Given the description of an element on the screen output the (x, y) to click on. 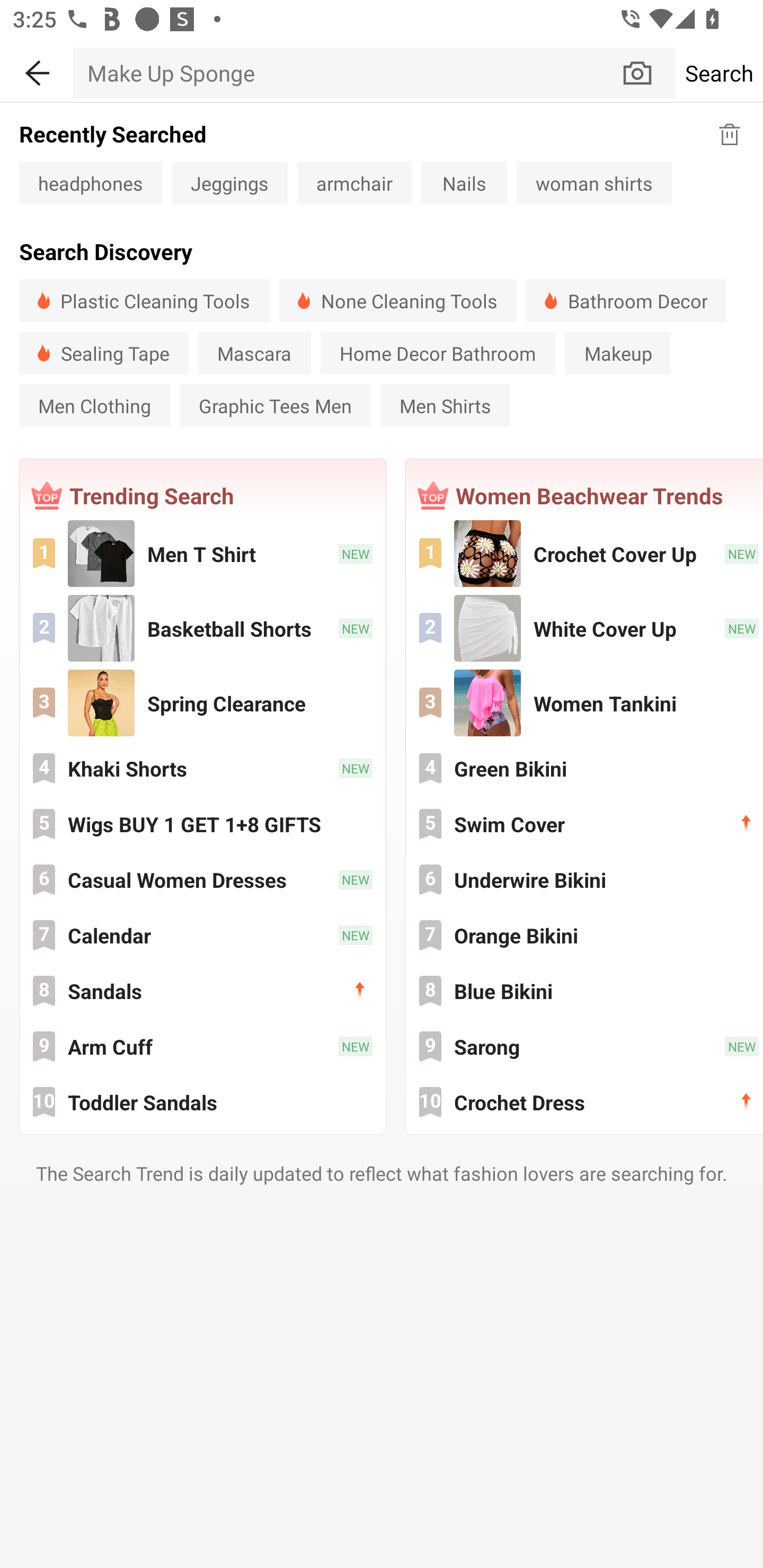
BACK (36, 69)
Make Up Sponge (346, 72)
Search (719, 72)
headphones (90, 182)
Jeggings (229, 182)
Jeggings (229, 182)
armchair (354, 182)
Nails (464, 182)
woman shirts (594, 182)
Plastic Cleaning Tools (144, 300)
None Cleaning Tools (397, 300)
Bathroom Decor (626, 300)
Sealing Tape (103, 352)
Mascara (254, 352)
Home Decor Bathroom (437, 352)
Makeup (617, 352)
Men Clothing (94, 405)
Graphic Tees Men (274, 405)
Men Shirts (445, 405)
Men T Shirt 1 Men T Shirt NEW (202, 553)
Crochet Cover Up 1 Crochet Cover Up NEW (584, 553)
Basketball Shorts 2 Basketball Shorts NEW (202, 627)
White Cover Up 2 White Cover Up NEW (584, 627)
Spring Clearance 3 Spring Clearance (202, 702)
Women Tankini 3 Women Tankini (584, 702)
Khaki Shorts 4 Khaki Shorts NEW (202, 767)
Green Bikini 4 Green Bikini (584, 767)
Swim Cover 5 Swim Cover (584, 823)
Casual Women Dresses 6 Casual Women Dresses NEW (202, 879)
Underwire Bikini 6 Underwire Bikini (584, 879)
Calendar 7 Calendar NEW (202, 934)
Orange Bikini 7 Orange Bikini (584, 934)
Sandals 8 Sandals (202, 990)
Blue Bikini 8 Blue Bikini (584, 990)
Arm Cuff 9 Arm Cuff NEW (202, 1045)
Sarong 9 Sarong NEW (584, 1045)
Toddler Sandals 10 Toddler Sandals (202, 1101)
Crochet Dress 10 Crochet Dress (584, 1101)
